Given the description of an element on the screen output the (x, y) to click on. 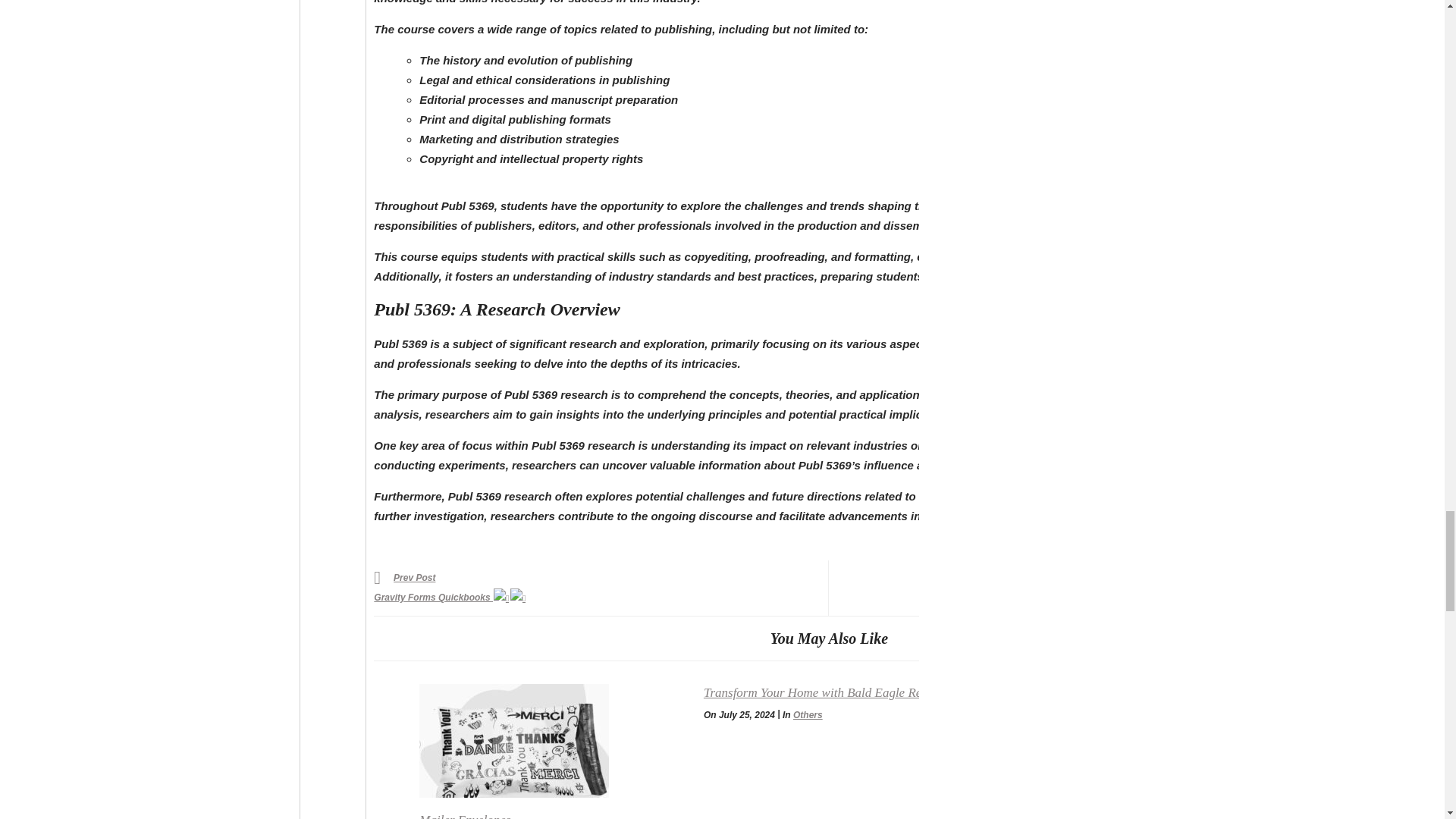
Mailer Envelopes (465, 816)
Mailer Envelopes (553, 740)
Transform Your Home with Bald Eagle Remodeling (836, 692)
Others (807, 715)
